Given the description of an element on the screen output the (x, y) to click on. 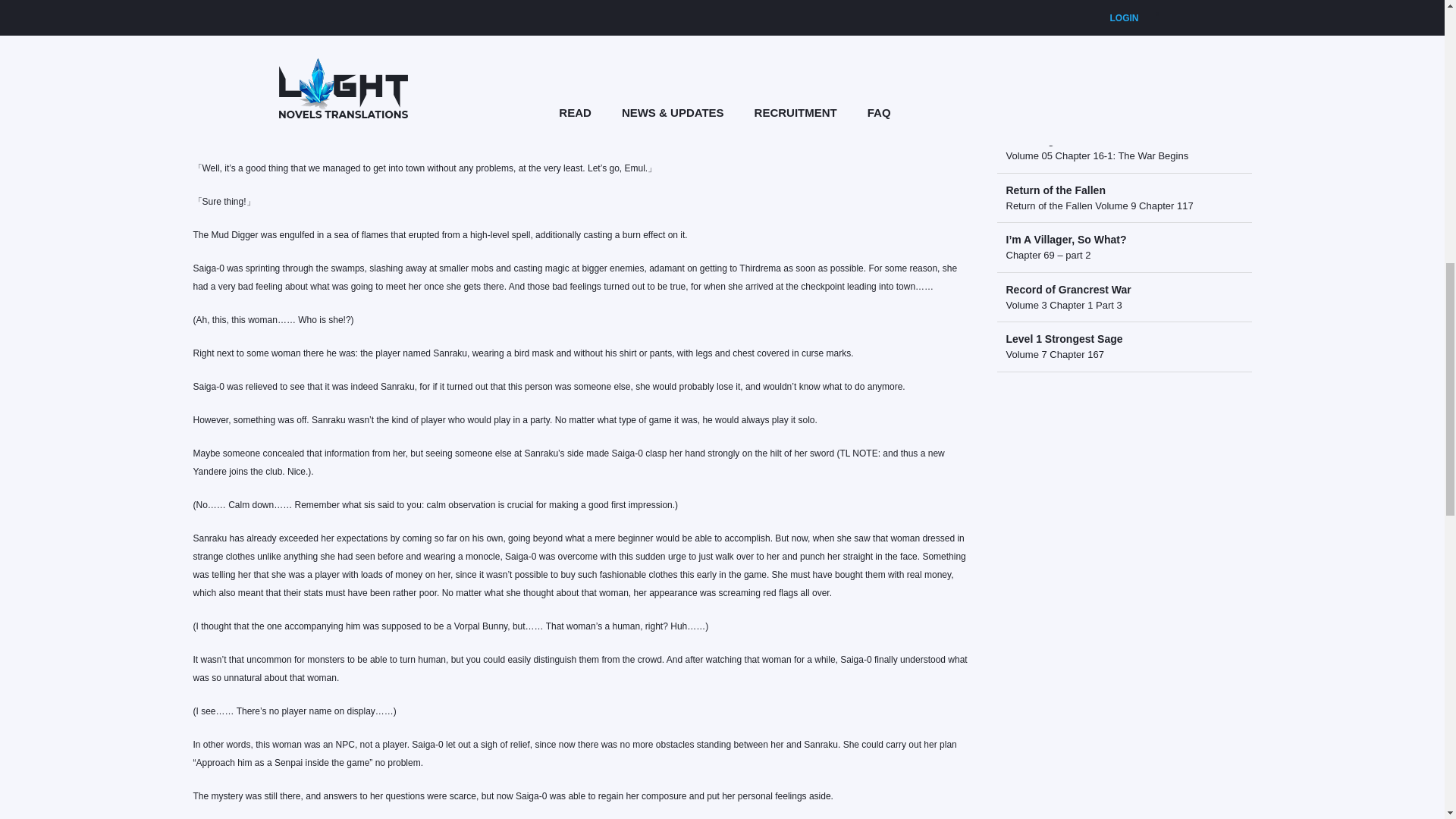
Volume 05 Chapter 16-1: The War Begins (1097, 155)
From Elf Reincarnation to Cheat Kingdom Founding Chronicle (1110, 131)
Azur Lane: Episode of Belfast Volume 4 Chapter 4 Part 3 (1115, 82)
Azur Lane: Episode of Belfast (1081, 60)
Return of the Fallen Volume 9 Chapter 117 (1099, 205)
Return of the Fallen (1055, 189)
